Given the description of an element on the screen output the (x, y) to click on. 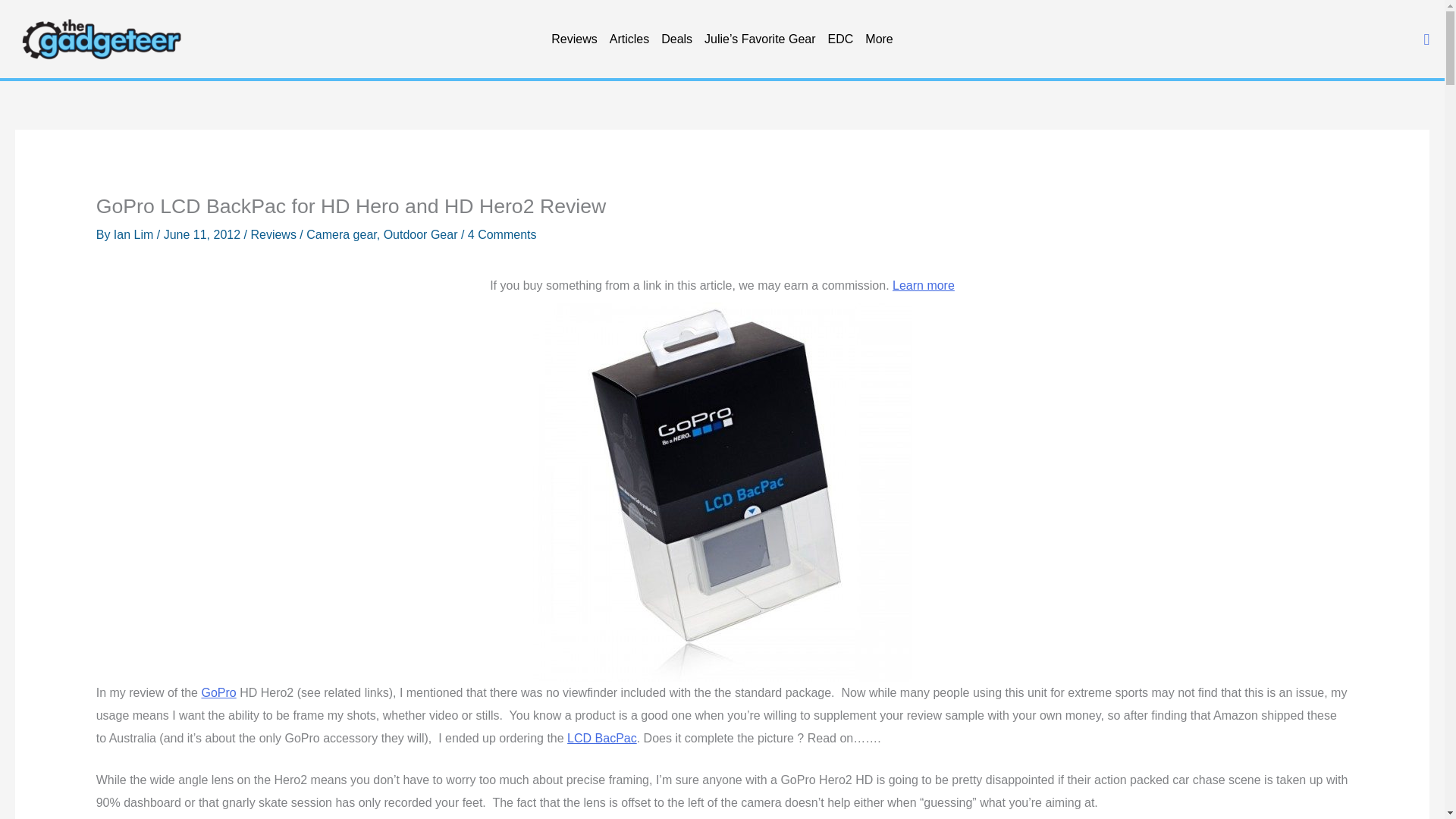
View all posts by Ian Lim (135, 234)
Articles (629, 39)
Deals (676, 39)
EDC (841, 39)
Reviews (573, 39)
More (878, 39)
